Given the description of an element on the screen output the (x, y) to click on. 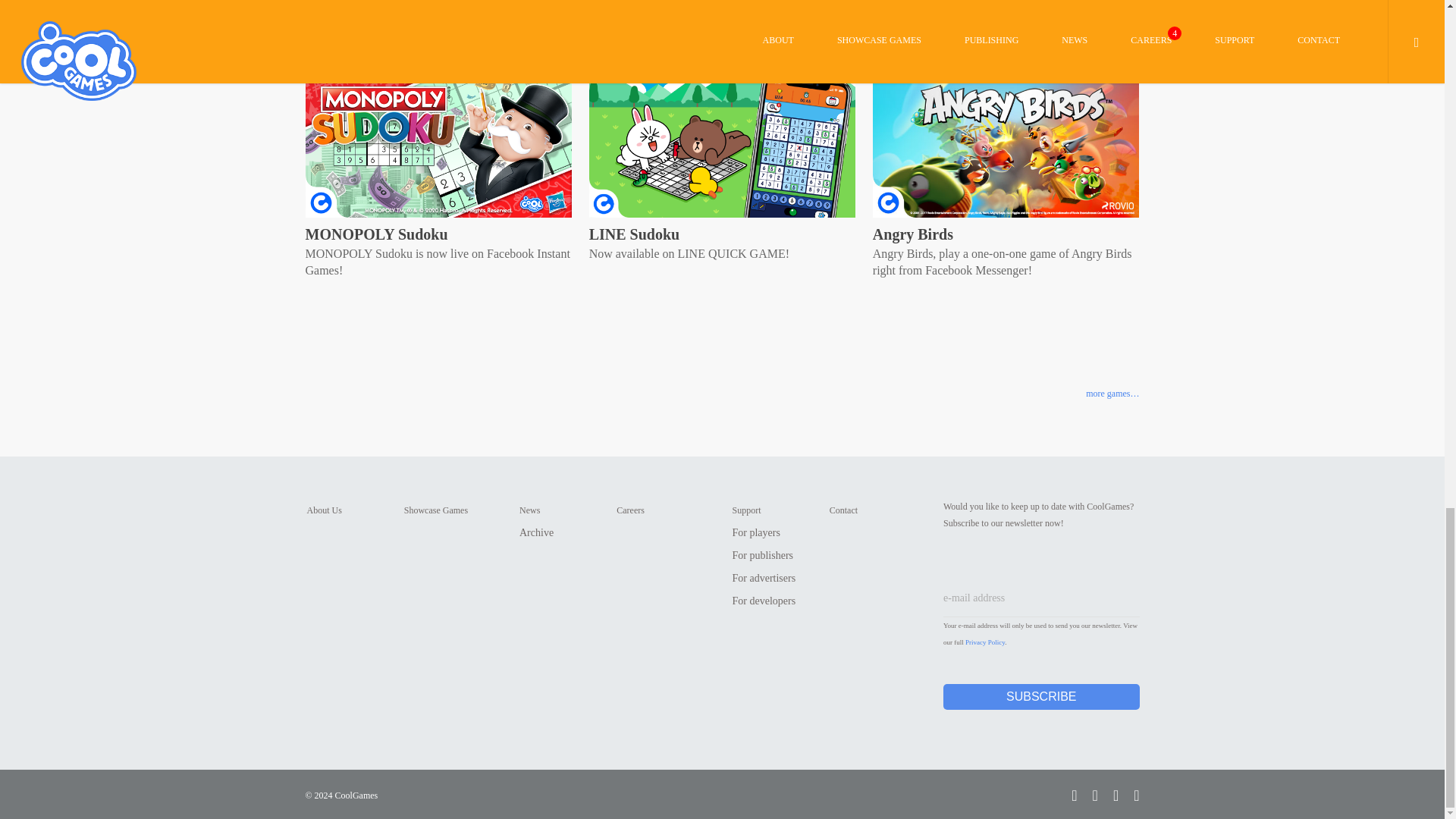
For players (756, 532)
News (529, 510)
Contact (843, 510)
For advertisers (764, 577)
Subscribe (1041, 696)
Archive (536, 532)
Careers (630, 510)
Showcase Games (435, 510)
About Us (322, 510)
For publishers (762, 555)
Support (746, 510)
